Given the description of an element on the screen output the (x, y) to click on. 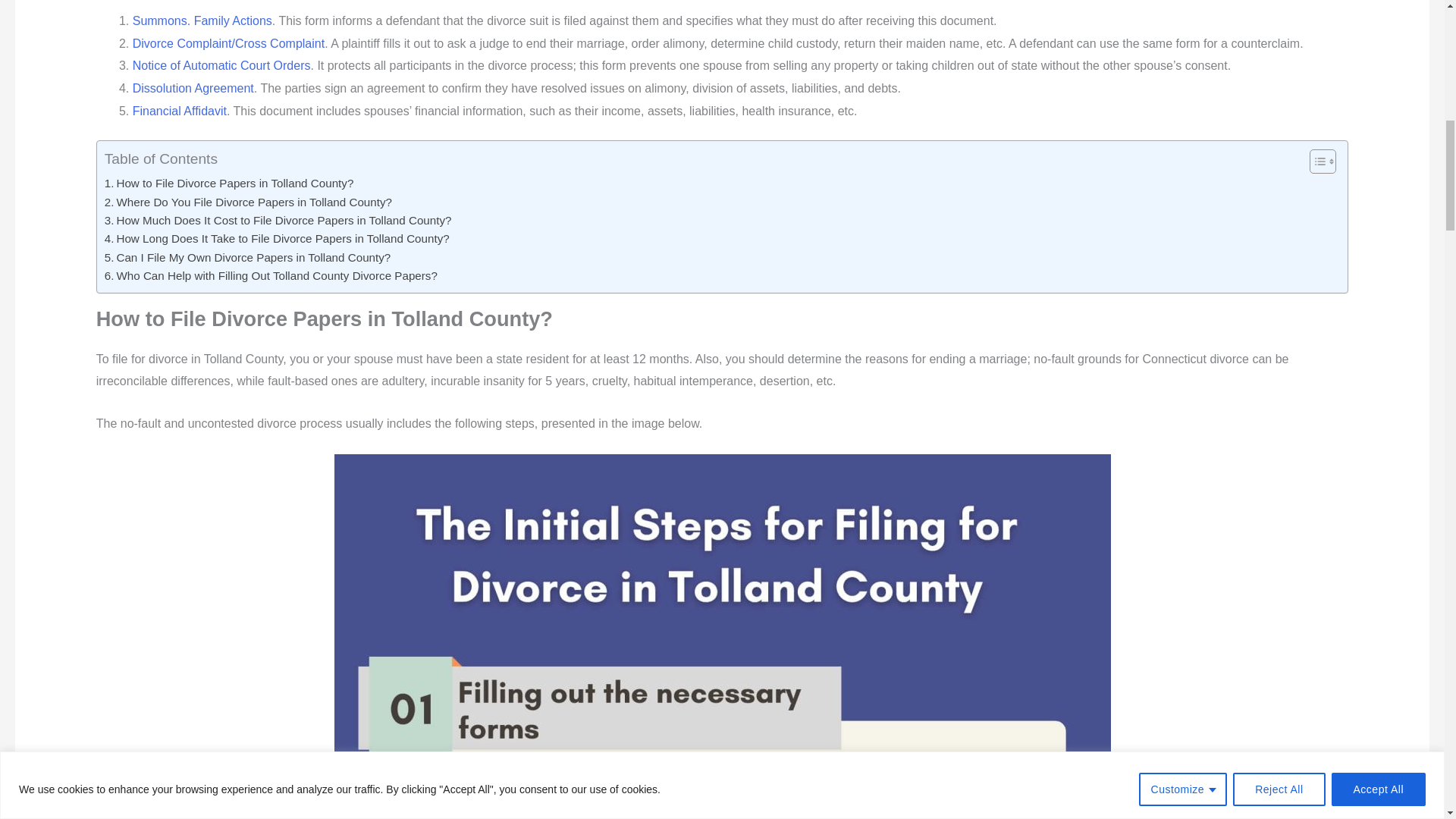
Notice of Automatic Court Orders (221, 65)
Financial Affidavit (179, 110)
Dissolution Agreement (192, 88)
How to File Divorce Papers in Tolland County? (228, 183)
Can I File My Own Divorce Papers in Tolland County? (247, 257)
Who Can Help with Filling Out Tolland County Divorce Papers? (271, 275)
How to File Divorce Papers in Tolland County? (228, 183)
Where Do You File Divorce Papers in Tolland County? (247, 202)
Summons. Family Actions (202, 20)
Where Do You File Divorce Papers in Tolland County? (247, 202)
